Given the description of an element on the screen output the (x, y) to click on. 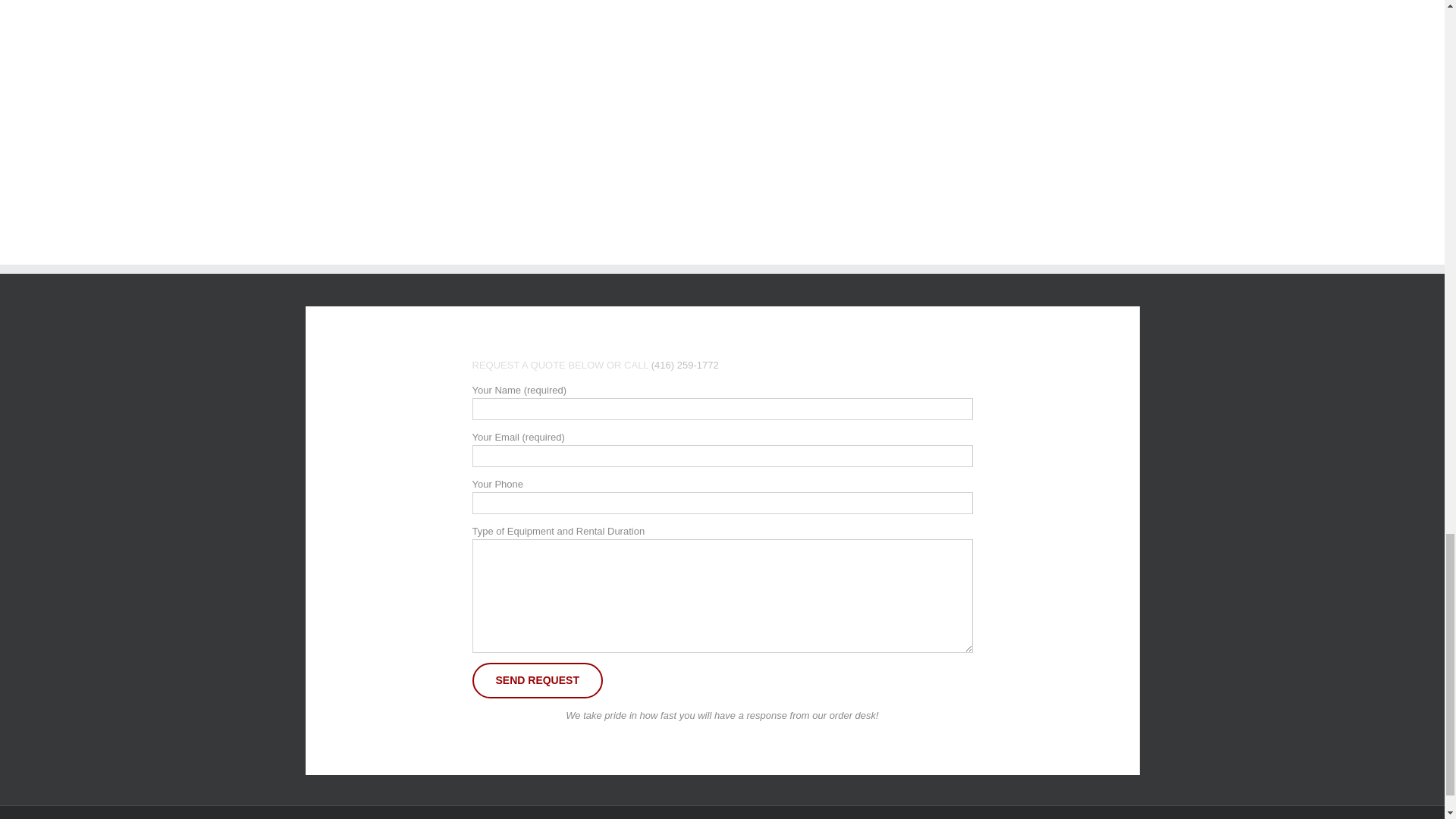
Send request (536, 680)
